Given the description of an element on the screen output the (x, y) to click on. 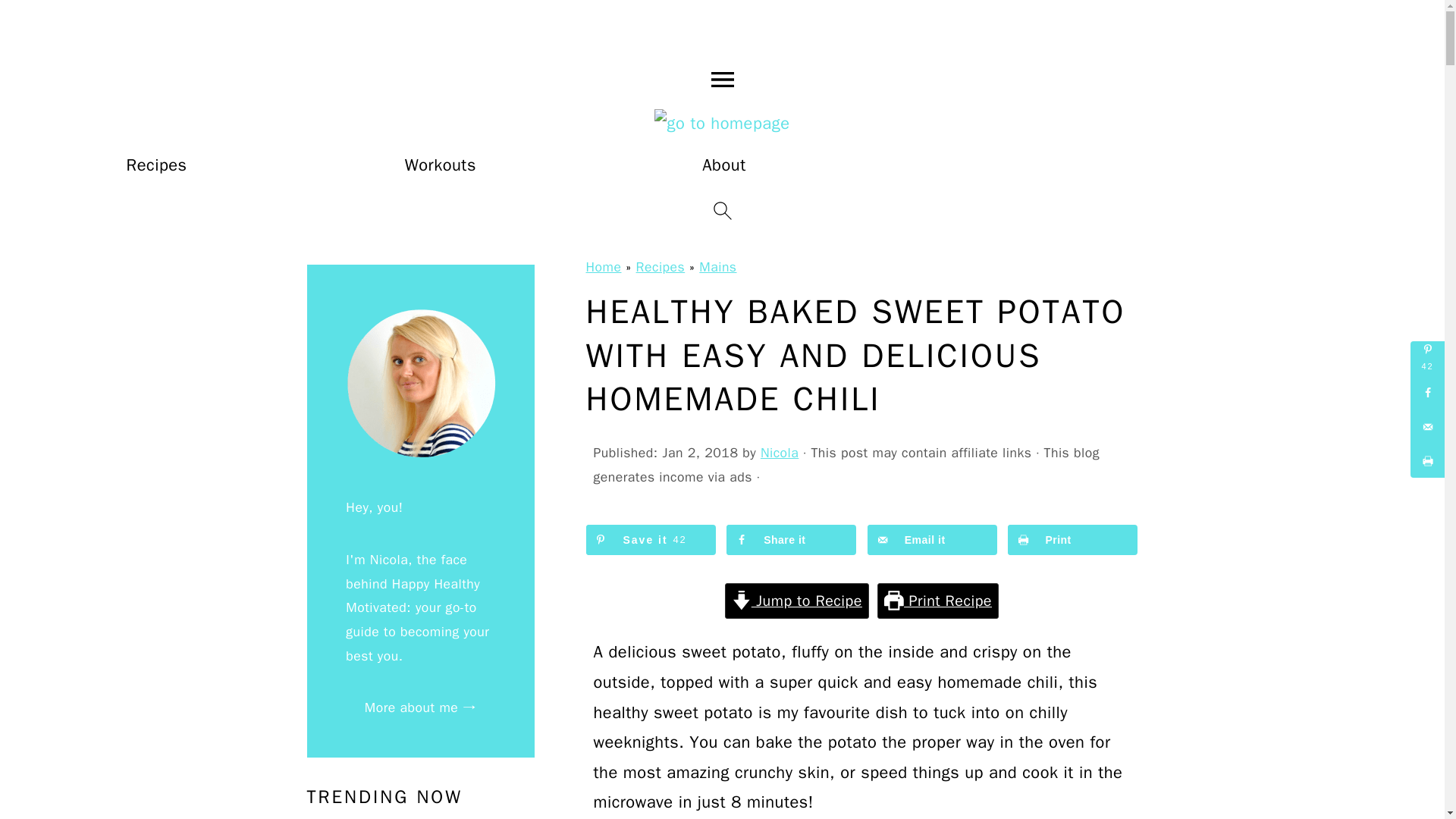
Recipes (660, 266)
menu icon (722, 79)
Workouts (440, 165)
Nicola (778, 452)
Print this webpage (1072, 539)
Share it (791, 539)
search icon (722, 210)
Save to Pinterest (649, 539)
Home (603, 266)
Email it (932, 539)
Share on Facebook (791, 539)
About (723, 165)
Recipes (156, 165)
Print (1072, 539)
